Given the description of an element on the screen output the (x, y) to click on. 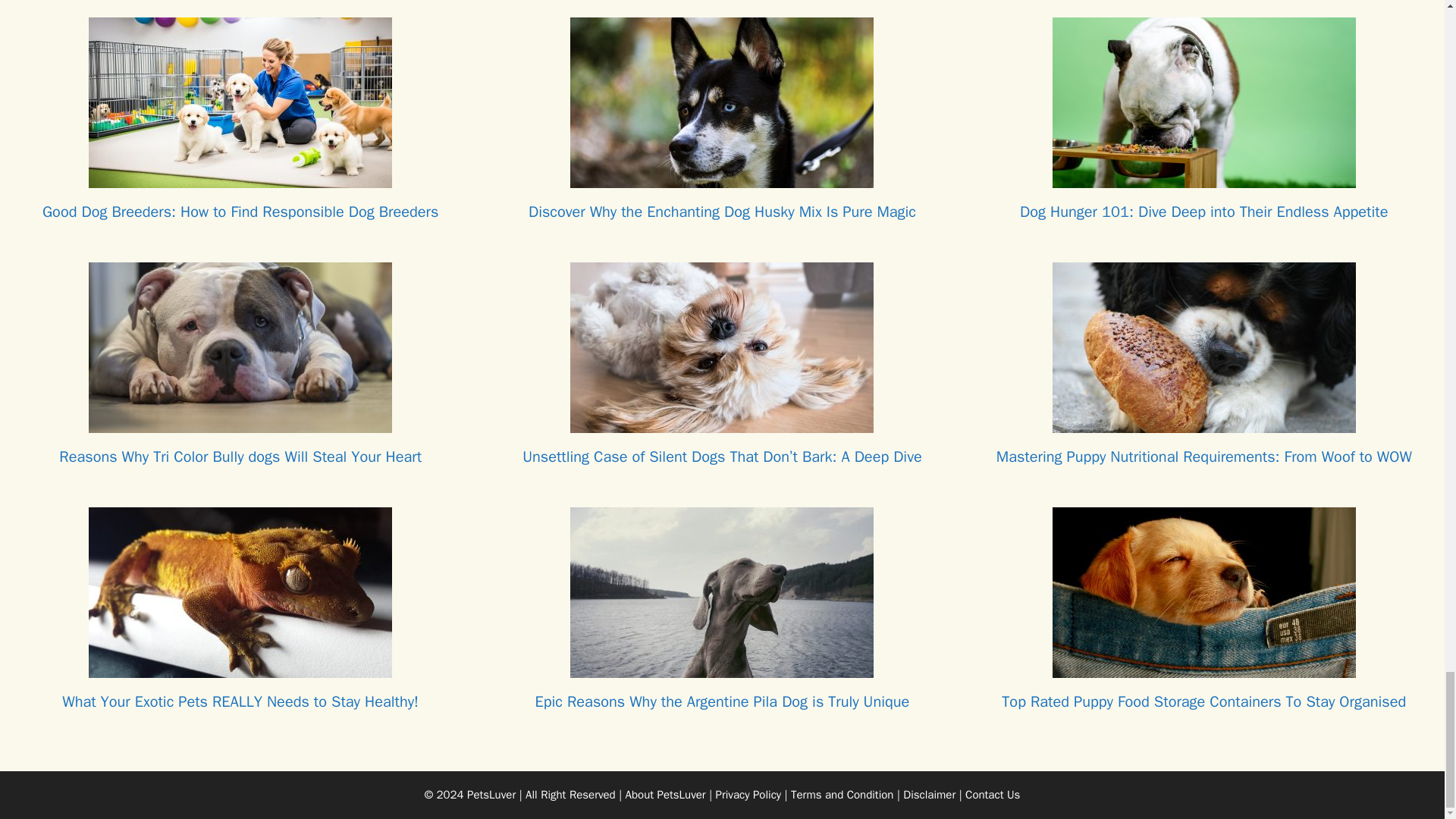
Good Dog Breeders: How to Find Responsible Dog Breeders (239, 178)
Mastering Puppy Nutritional Requirements: From Woof to WOW (1203, 423)
What Your Exotic Pets REALLY Needs to Stay Healthy! (239, 668)
Dog Hunger 101: Dive Deep into Their Endless Appetite (1203, 178)
Discover Why the Enchanting Dog Husky Mix Is Pure Magic (721, 178)
Reasons Why Tri Color Bully dogs Will Steal Your Heart (239, 423)
